Given the description of an element on the screen output the (x, y) to click on. 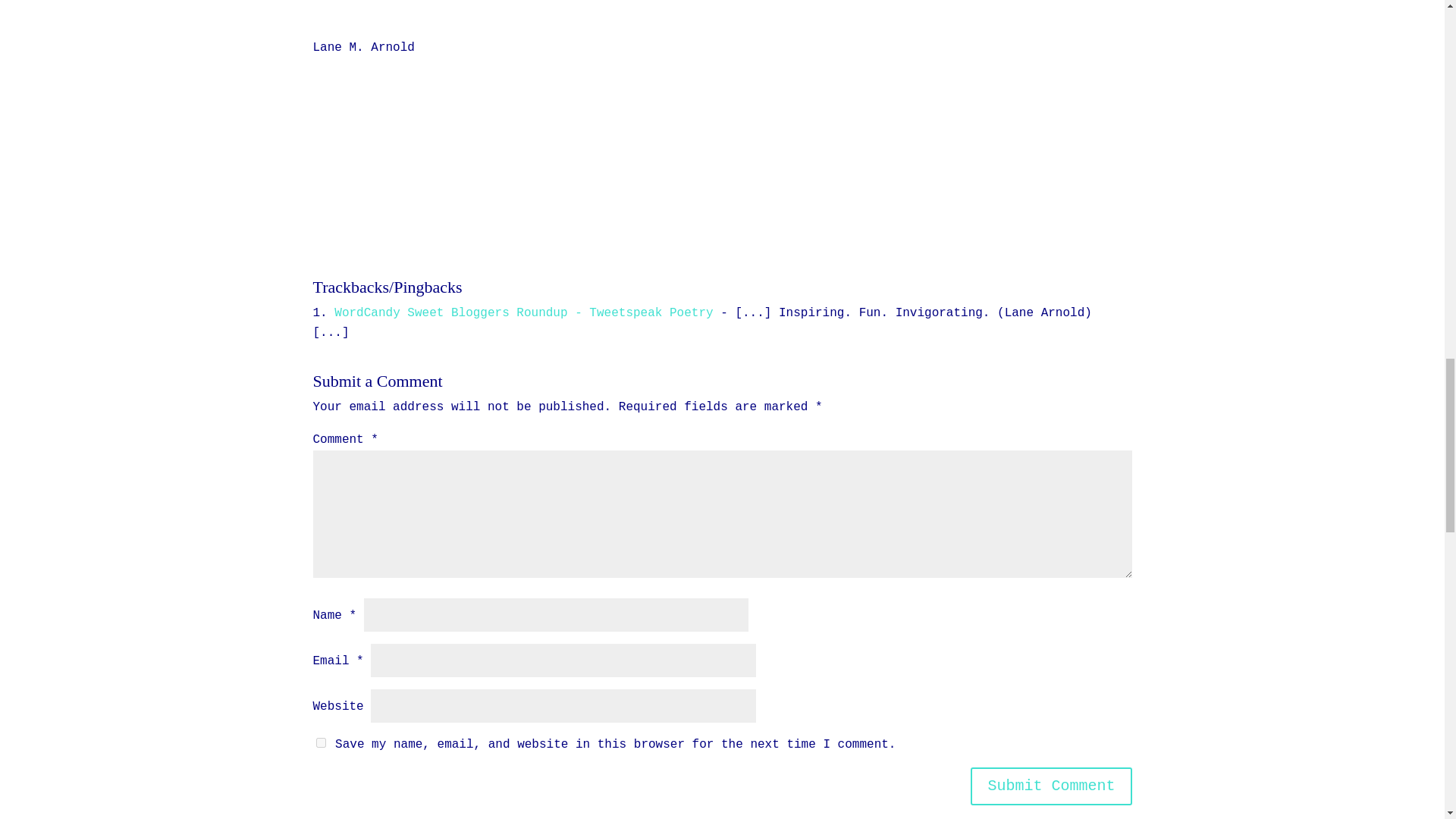
WordCandy Sweet Bloggers Roundup - Tweetspeak Poetry (523, 313)
Submit Comment (1051, 786)
yes (319, 741)
Submit Comment (1051, 786)
